Given the description of an element on the screen output the (x, y) to click on. 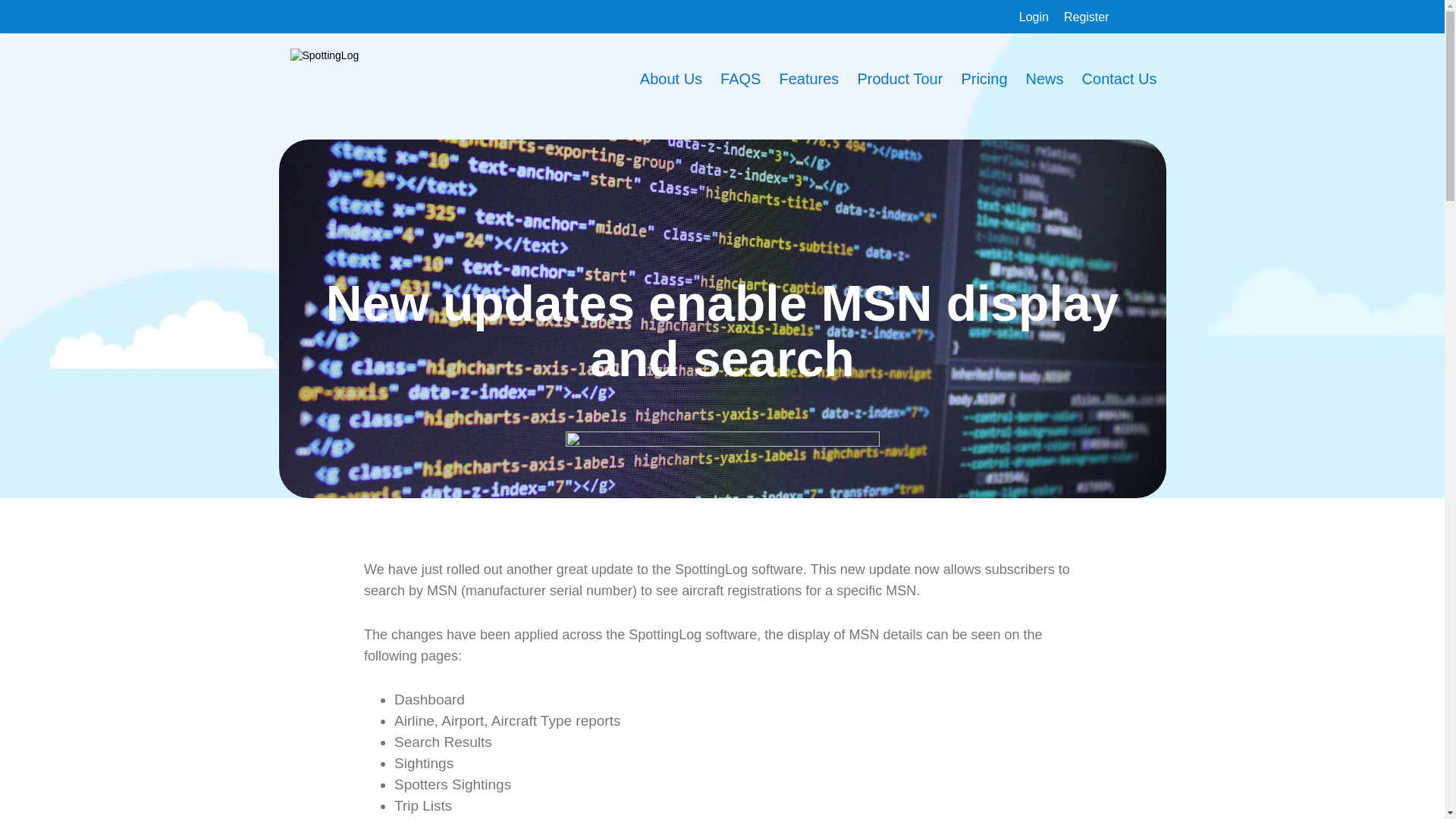
About Us (670, 78)
Product Tour (899, 78)
News (1044, 78)
Product Tour (899, 78)
Contact Us (1119, 78)
Features (808, 78)
Contact Us (1119, 78)
News (1044, 78)
Register (1086, 16)
FAQS (740, 78)
Features (808, 78)
FAQS (740, 78)
Login (1033, 16)
Pricing (983, 78)
About Us (670, 78)
